Given the description of an element on the screen output the (x, y) to click on. 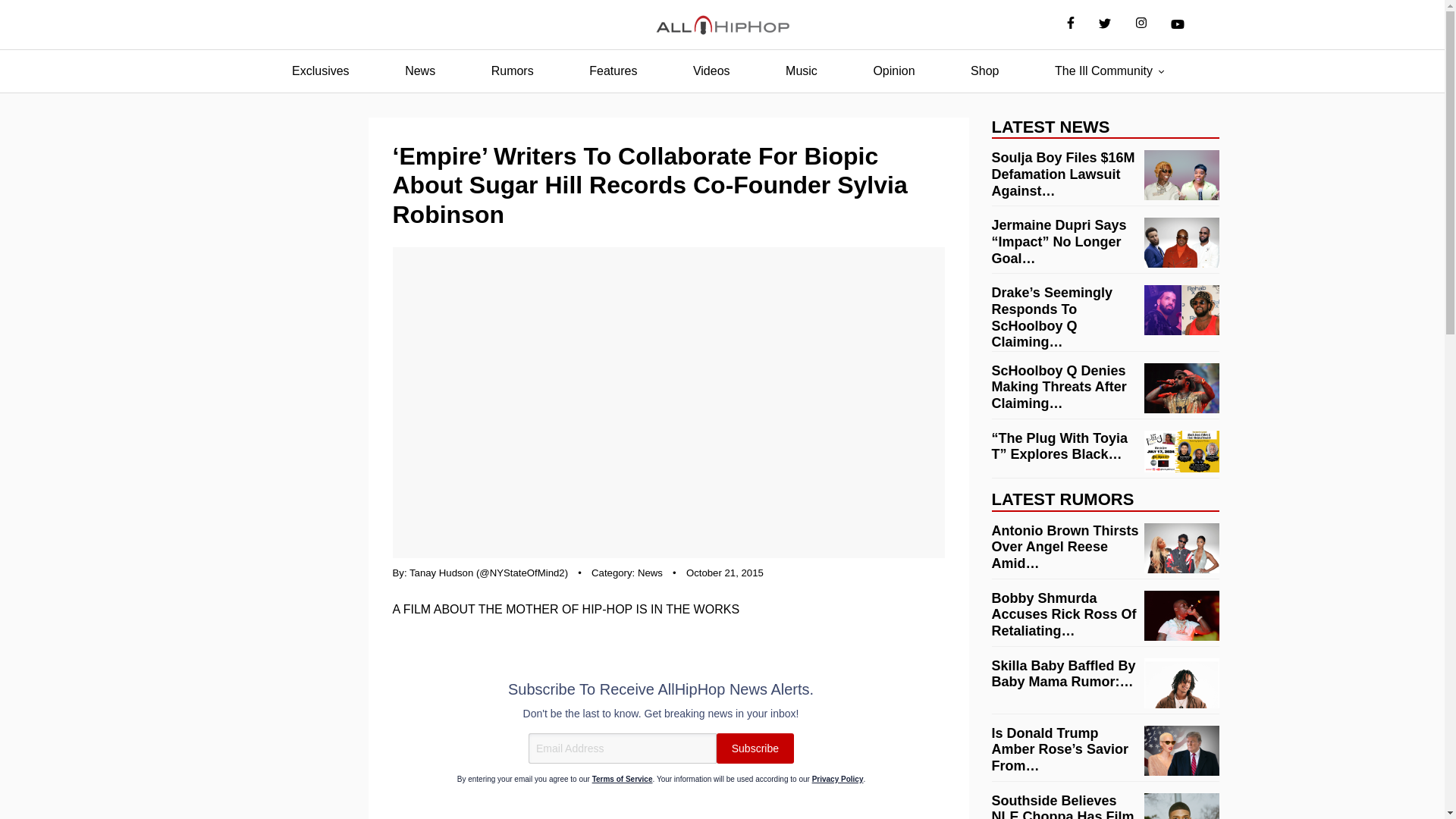
Opinion (893, 70)
Exclusives (320, 70)
October 21, 2015 (723, 572)
Videos (711, 70)
Music (801, 70)
Rumors (512, 70)
Features (612, 70)
The Ill Community (1103, 70)
News (649, 572)
AllHipHop (722, 25)
News (419, 70)
Shop (984, 70)
